Given the description of an element on the screen output the (x, y) to click on. 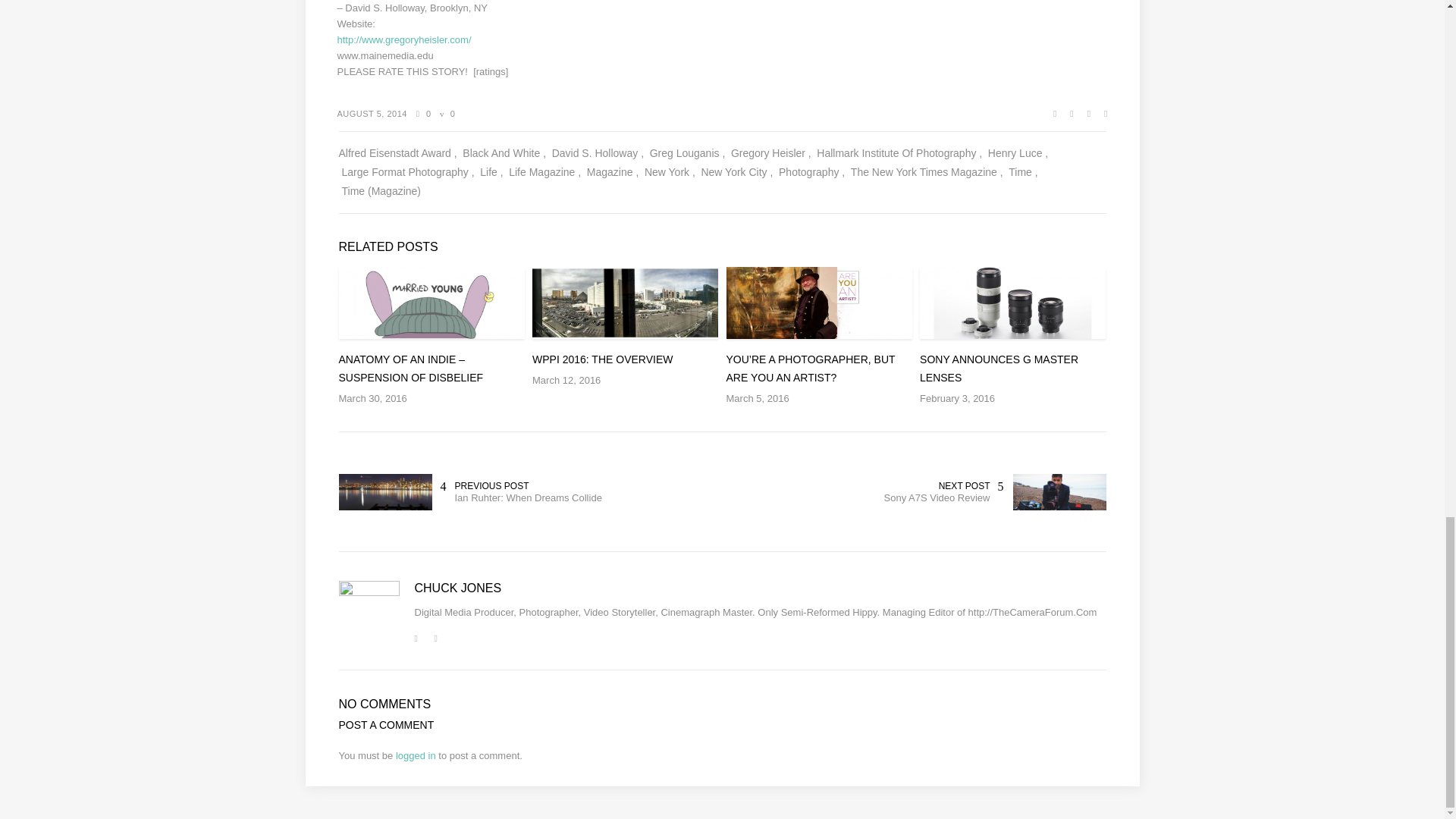
Hallmark Institute Of Photography (898, 153)
WPPI 2016: The Overview (624, 360)
Life Magazine (544, 171)
Greg Louganis (687, 153)
0 (423, 112)
David S. Holloway (597, 153)
Life (491, 171)
Sony Announces G Master Lenses (1012, 369)
Henry Luce (1018, 153)
Gregory Heisler (770, 153)
Large Format Photography (407, 171)
Alfred Eisenstadt Award (397, 153)
Magazine (612, 171)
0 (446, 112)
Black And White (504, 153)
